Given the description of an element on the screen output the (x, y) to click on. 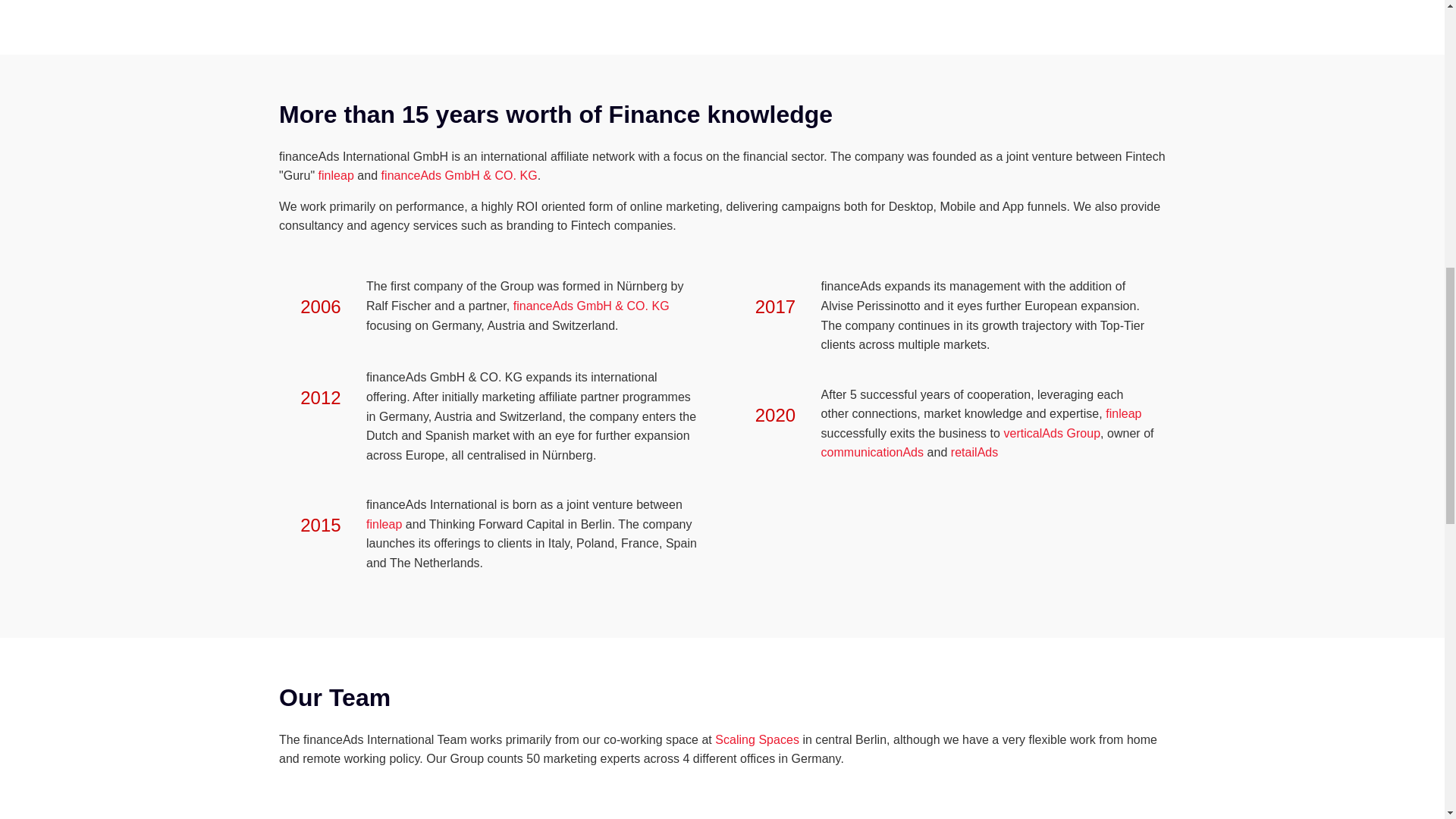
finleap (335, 174)
finleap (1123, 413)
Scaling Spaces (756, 739)
2017 (775, 306)
communicationAds (873, 451)
2006 (319, 306)
verticalAds Group (1051, 432)
2020 (775, 414)
2015 (319, 525)
retailAds (973, 451)
